Given the description of an element on the screen output the (x, y) to click on. 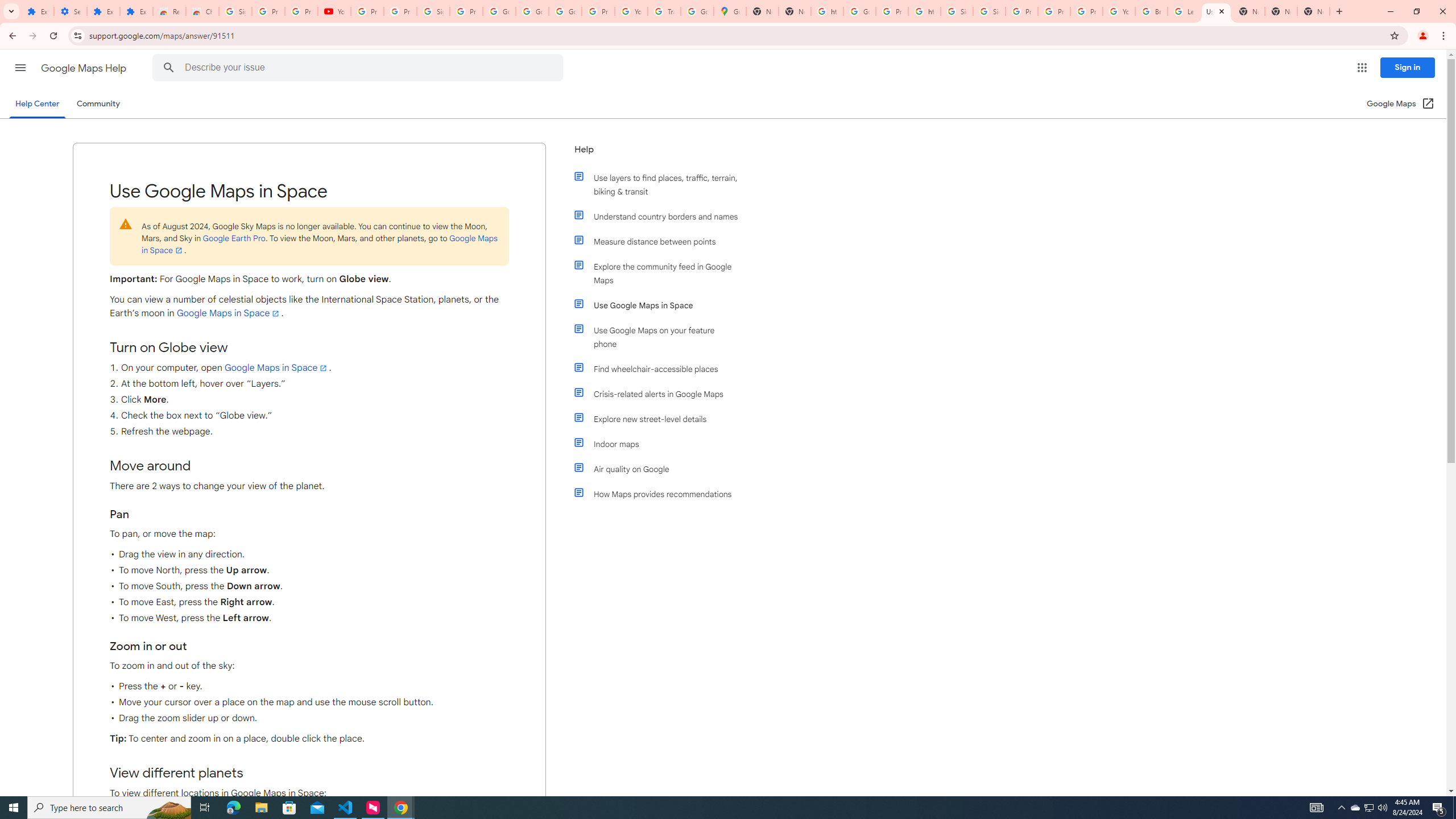
Use Google Maps in Space - Google Maps Help (1216, 11)
Google Earth Pro (233, 238)
Google Maps Help (84, 68)
https://scholar.google.com/ (924, 11)
Google Account (532, 11)
Use Google Maps on your feature phone (661, 336)
YouTube (334, 11)
Extensions (37, 11)
